Given the description of an element on the screen output the (x, y) to click on. 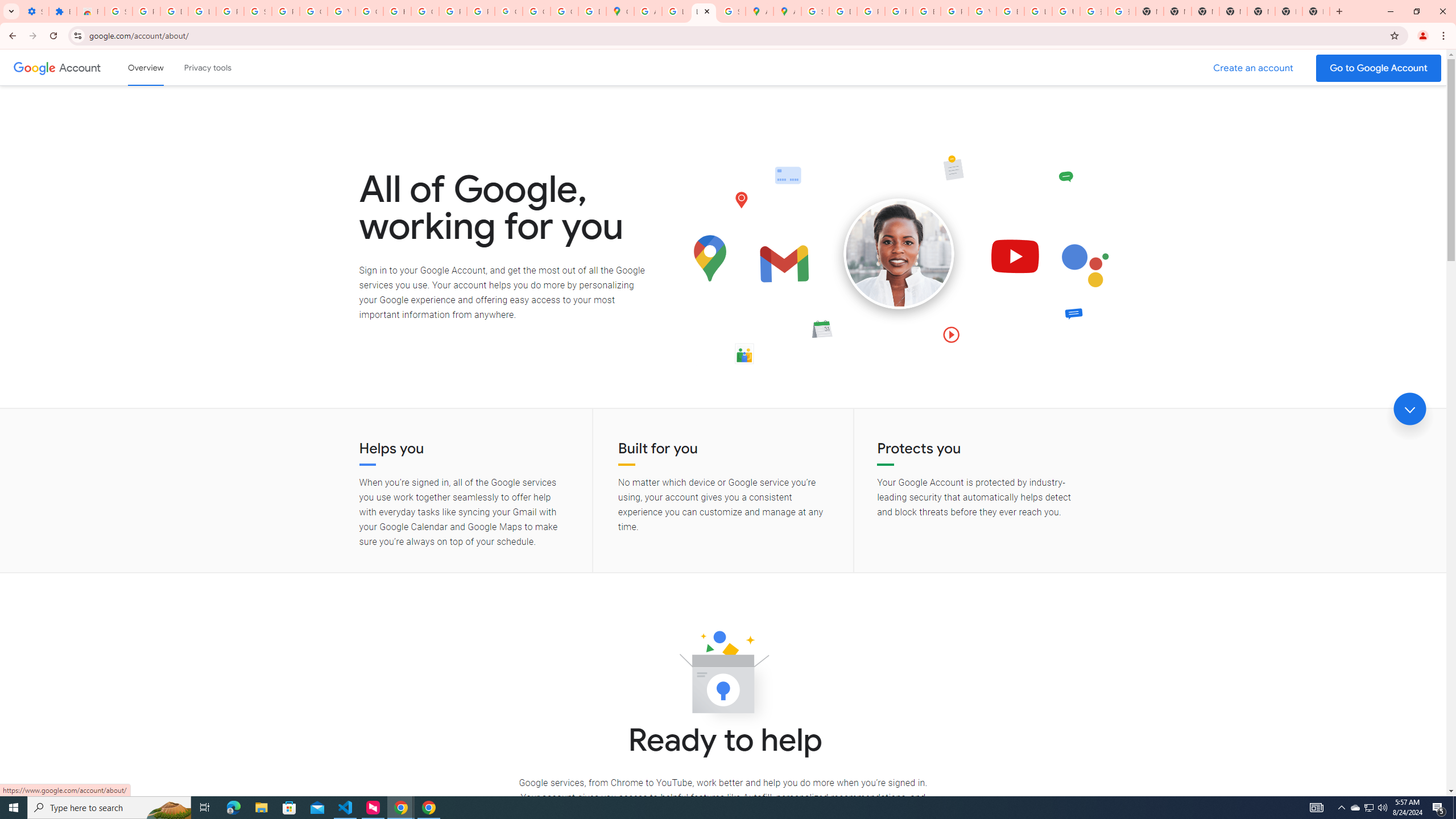
Skip to Content (162, 65)
Google Account overview (145, 67)
Jump link (1409, 408)
Safety in Our Products - Google Safety Center (731, 11)
Go to your Google Account (1378, 67)
Settings - On startup (34, 11)
